Given the description of an element on the screen output the (x, y) to click on. 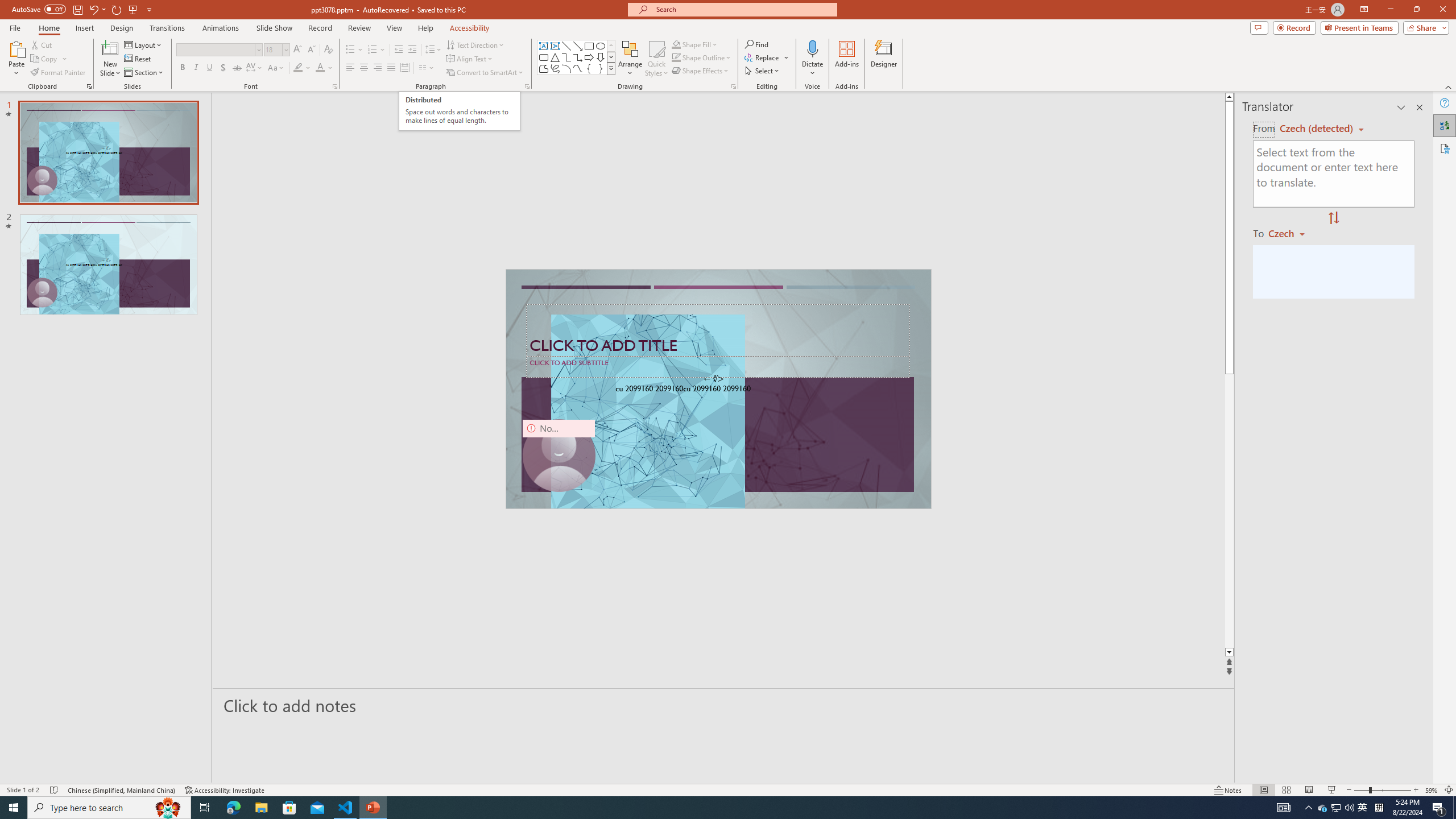
Swap "from" and "to" languages. (1333, 218)
